Given the description of an element on the screen output the (x, y) to click on. 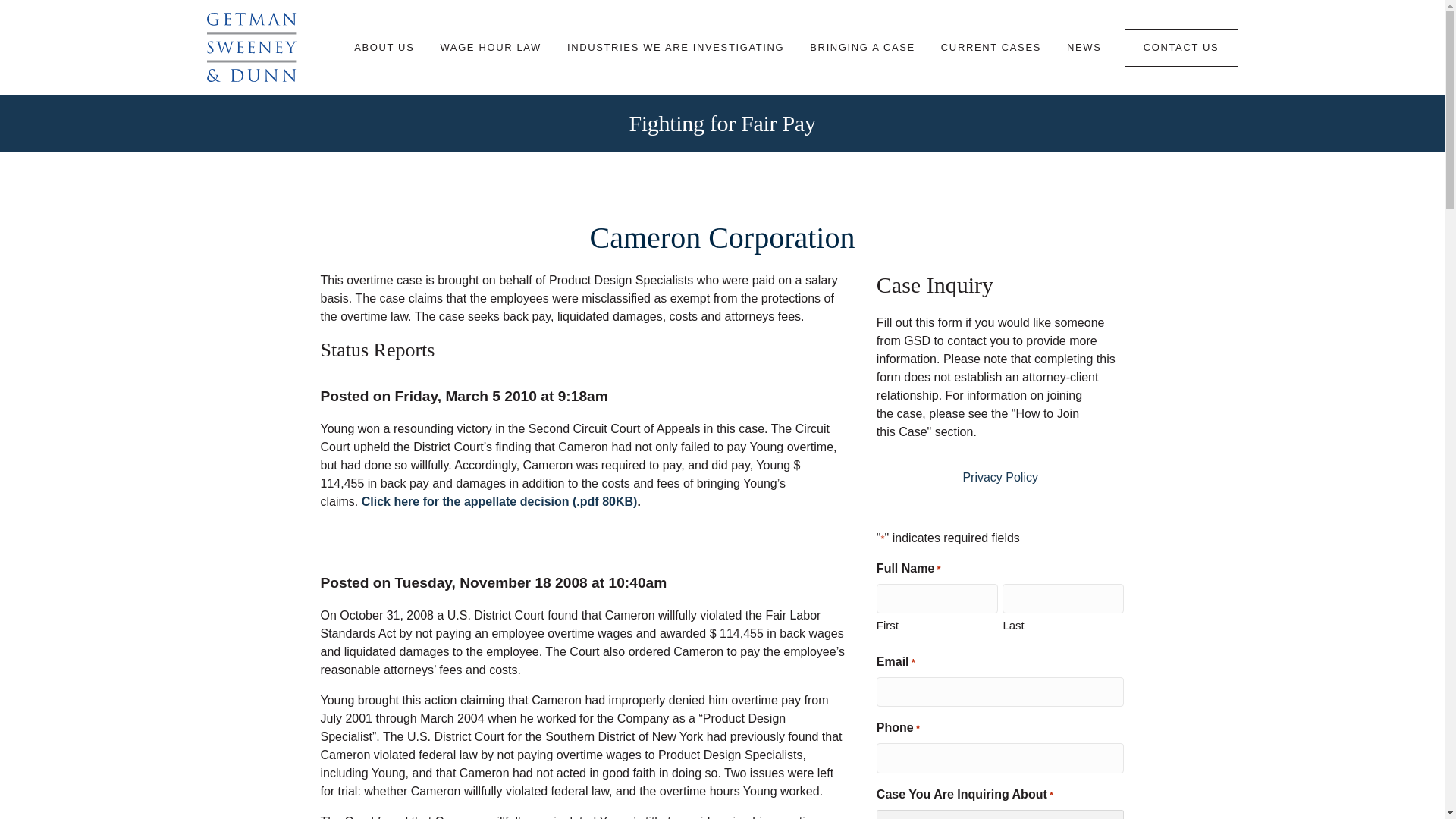
WAGE HOUR LAW (490, 47)
INDUSTRIES WE ARE INVESTIGATING (675, 47)
BRINGING A CASE (862, 47)
CURRENT CASES (991, 47)
CONTACT US (1180, 47)
ABOUT US (383, 47)
